Given the description of an element on the screen output the (x, y) to click on. 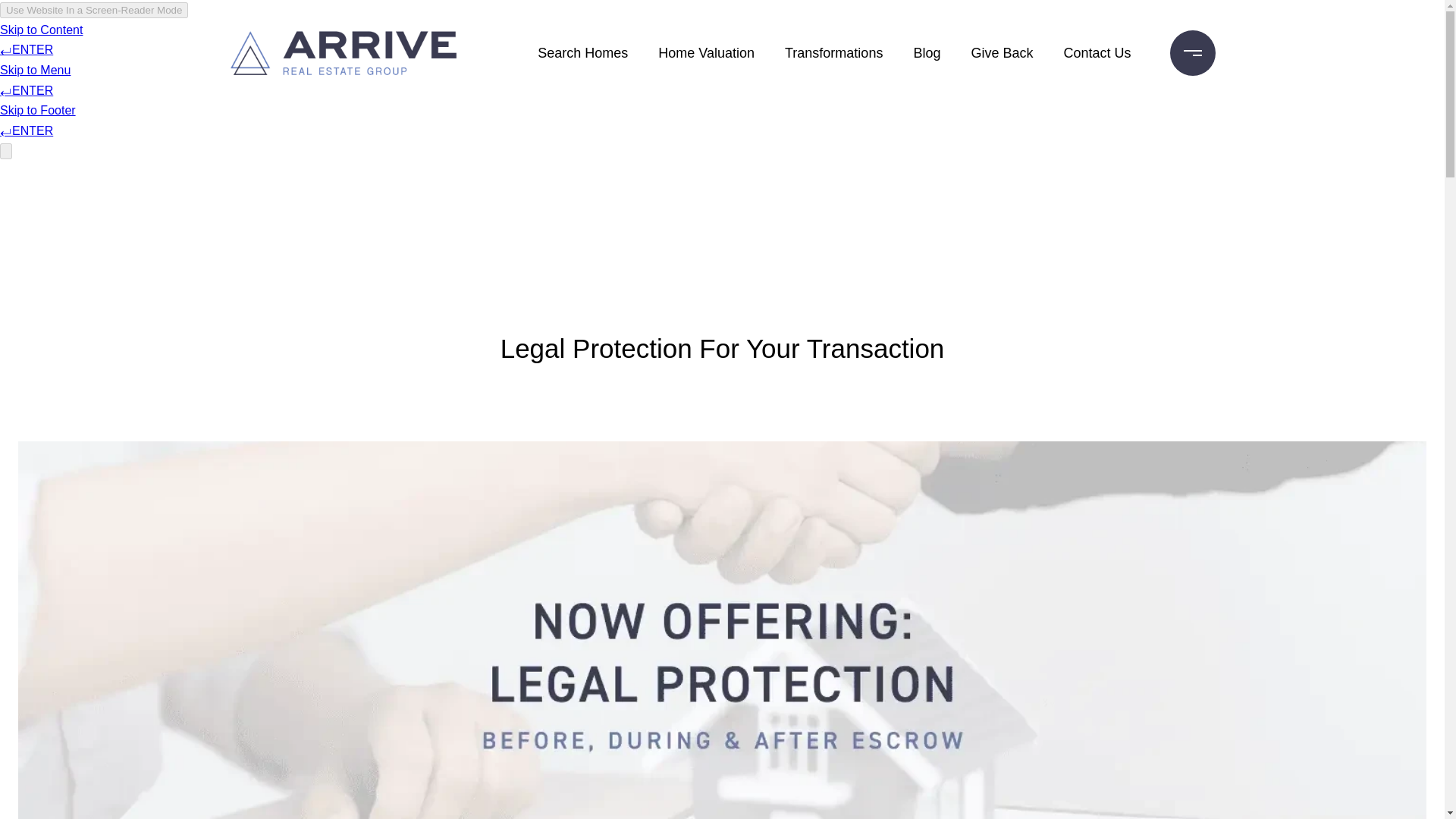
Search Homes (581, 52)
Home Valuation (705, 52)
Transformations (833, 52)
Give Back (1001, 52)
Contact Us (1096, 52)
